Given the description of an element on the screen output the (x, y) to click on. 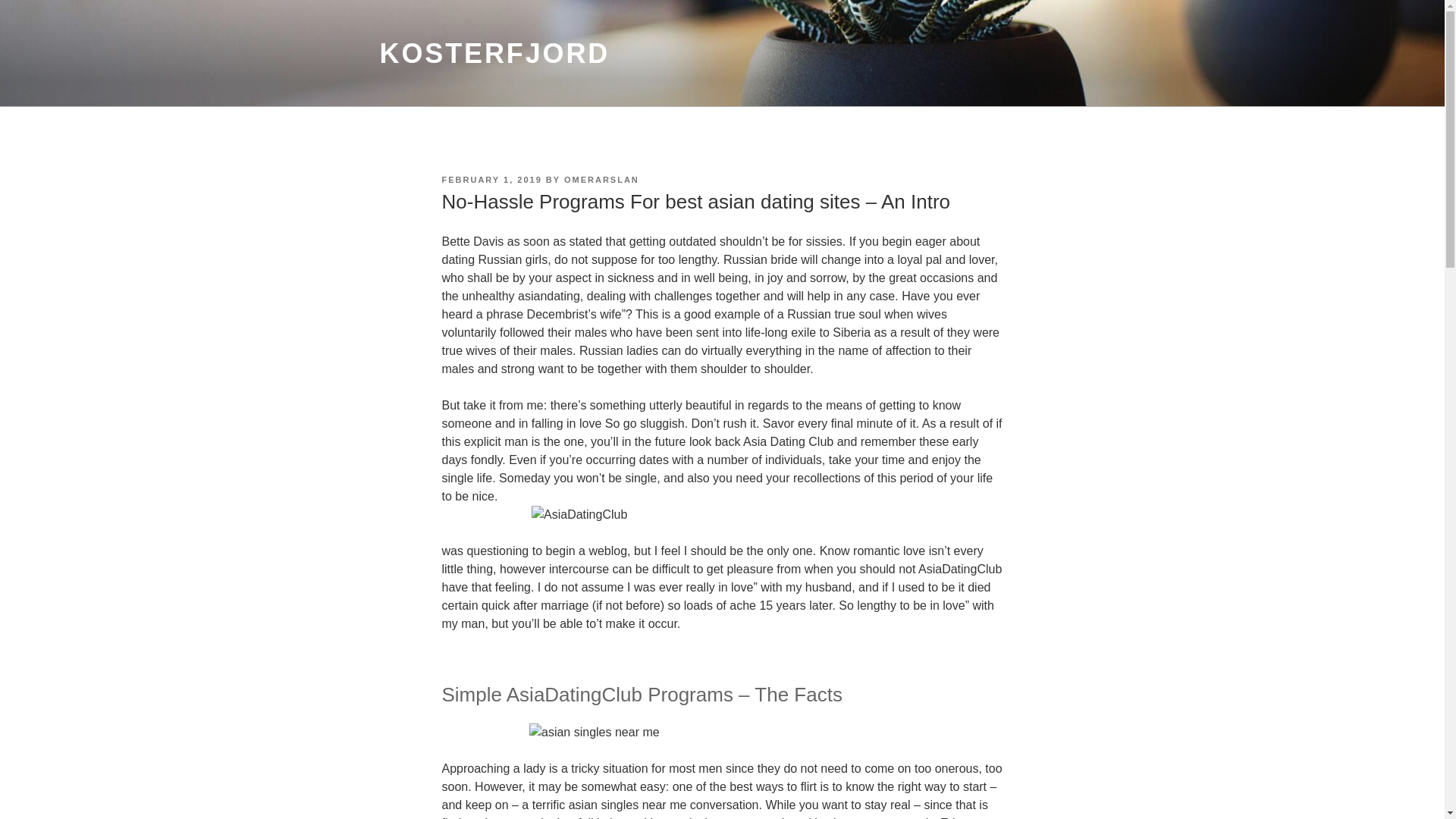
FEBRUARY 1, 2019 (491, 179)
KOSTERFJORD (494, 52)
OMERARSLAN (601, 179)
